Given the description of an element on the screen output the (x, y) to click on. 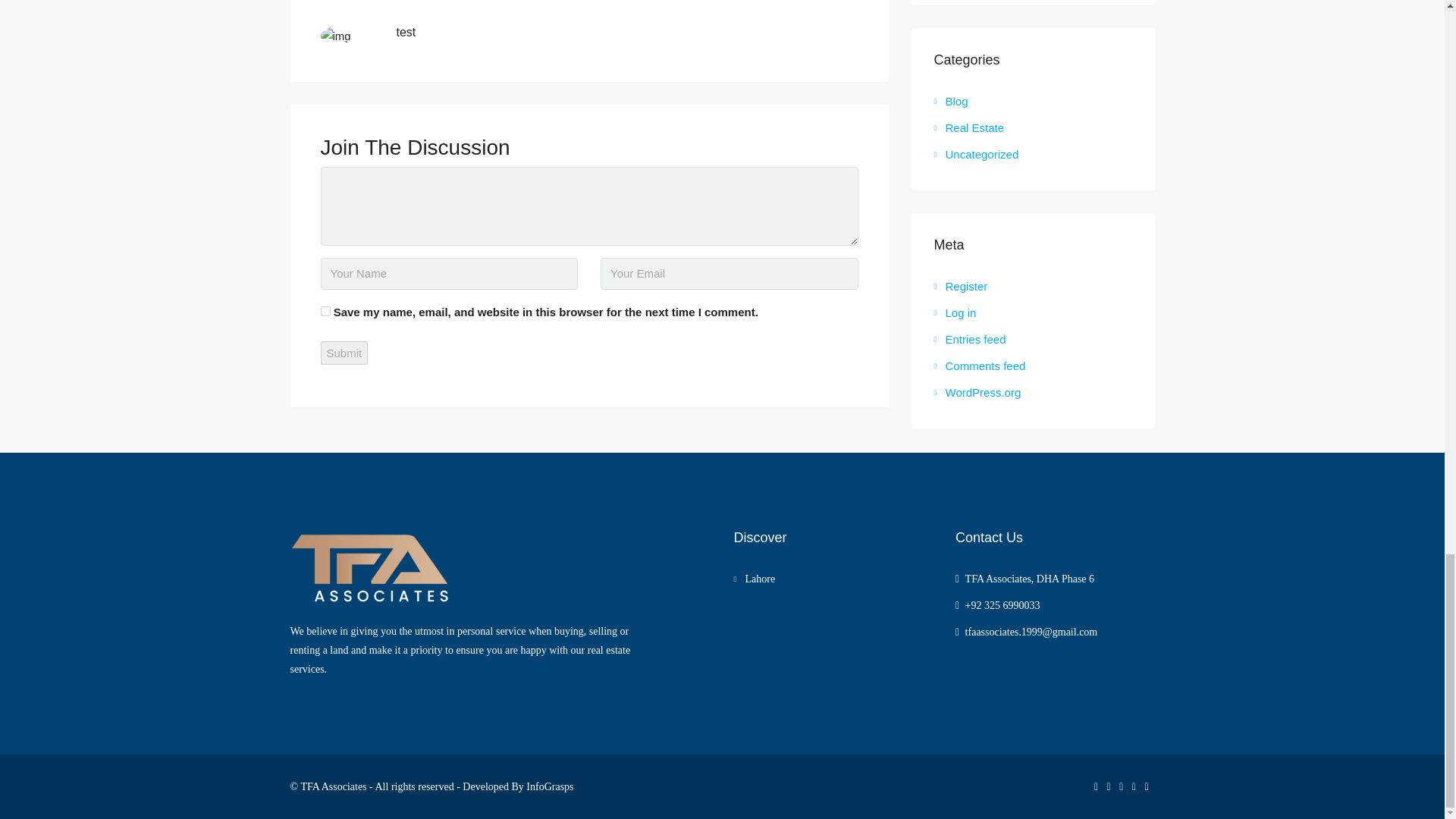
yes (325, 311)
Submit (344, 352)
